Given the description of an element on the screen output the (x, y) to click on. 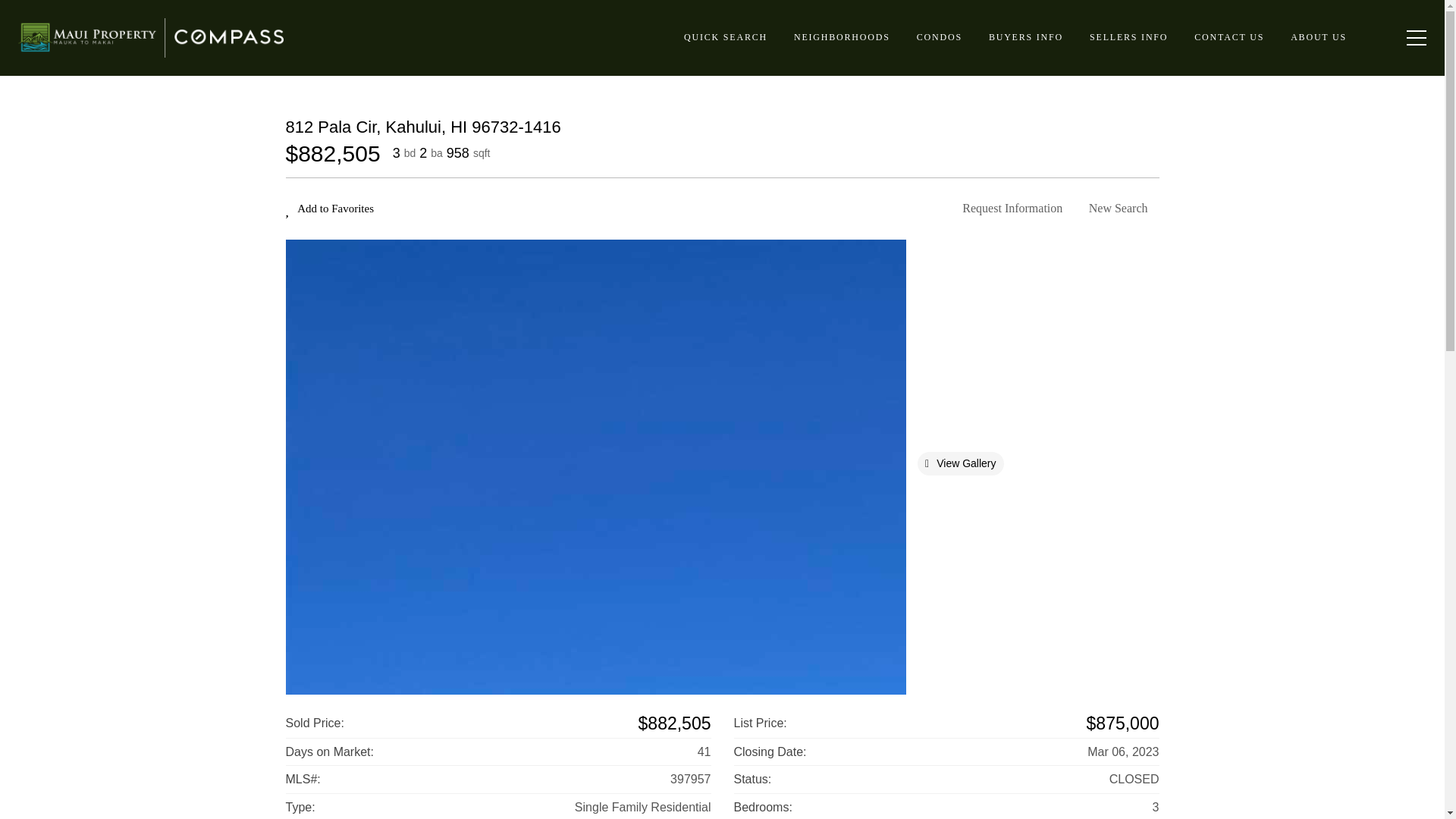
NEIGHBORHOODS (841, 37)
BUYERS INFO (1025, 37)
SELLERS INFO (1128, 37)
QUICK SEARCH (725, 37)
ABOUT US (1318, 37)
CONTACT US (1228, 37)
Account (1373, 37)
CONDOS (939, 37)
